Given the description of an element on the screen output the (x, y) to click on. 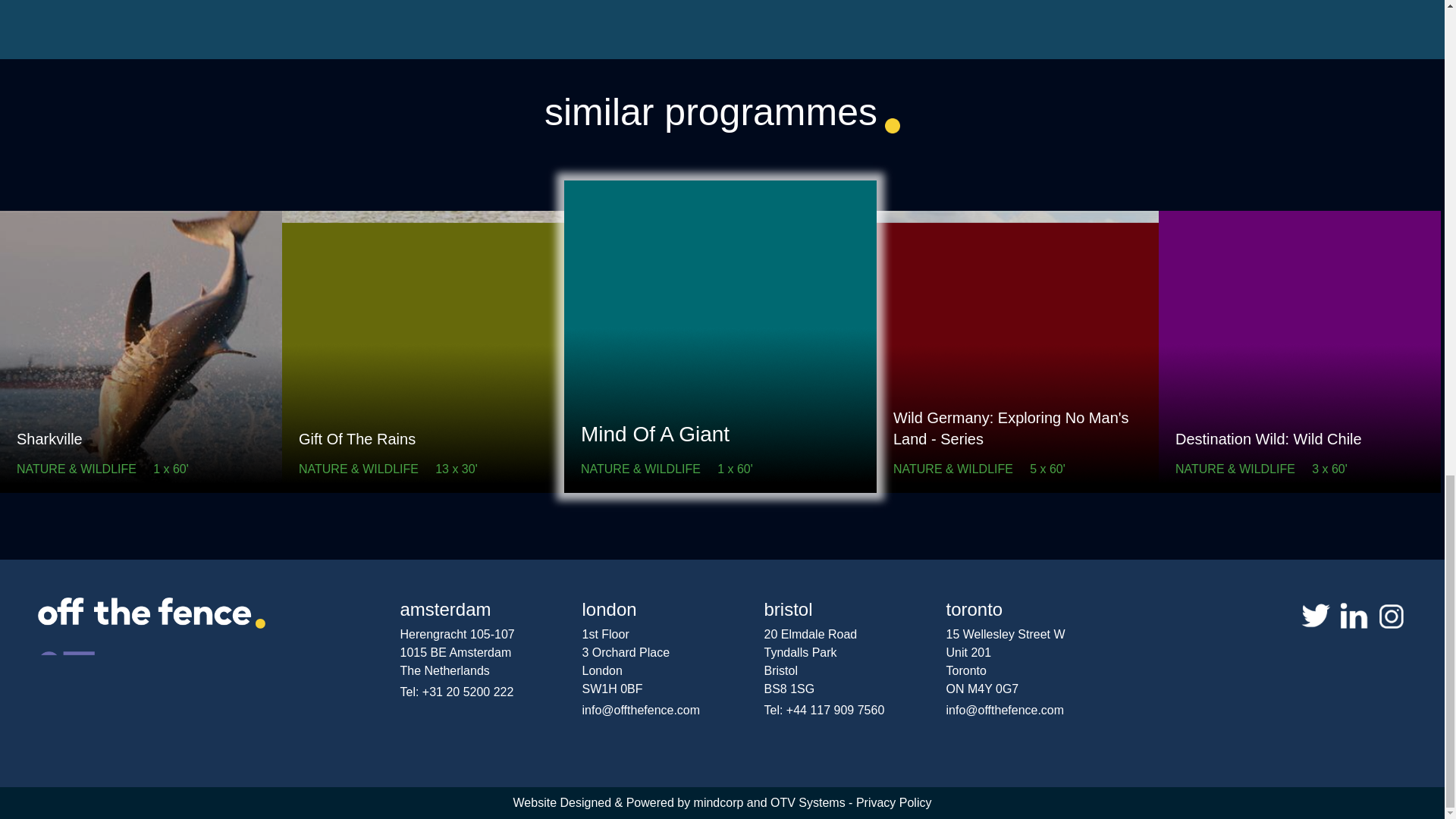
Privacy Policy (893, 802)
